Given the description of an element on the screen output the (x, y) to click on. 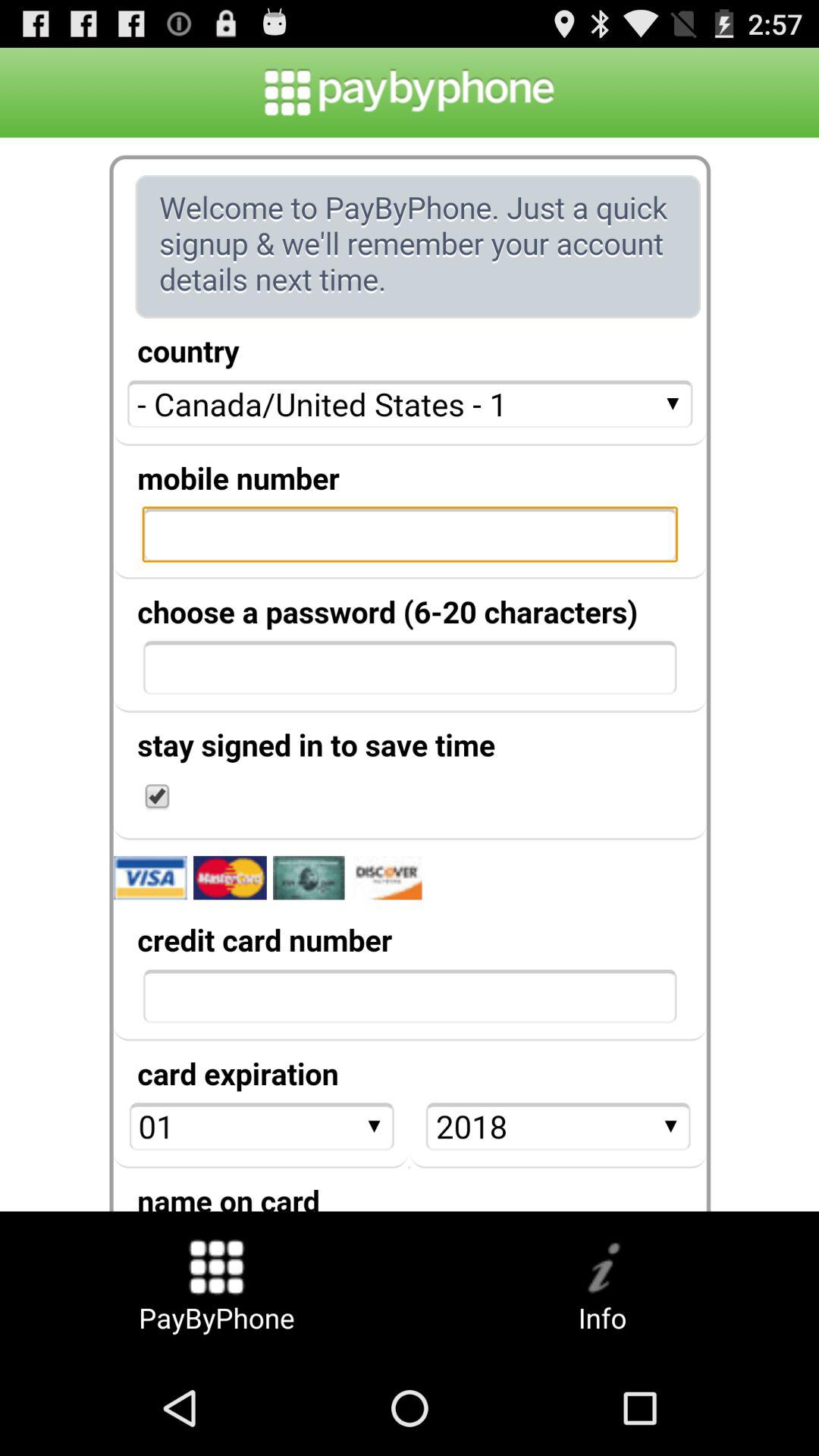
sign up (409, 674)
